Given the description of an element on the screen output the (x, y) to click on. 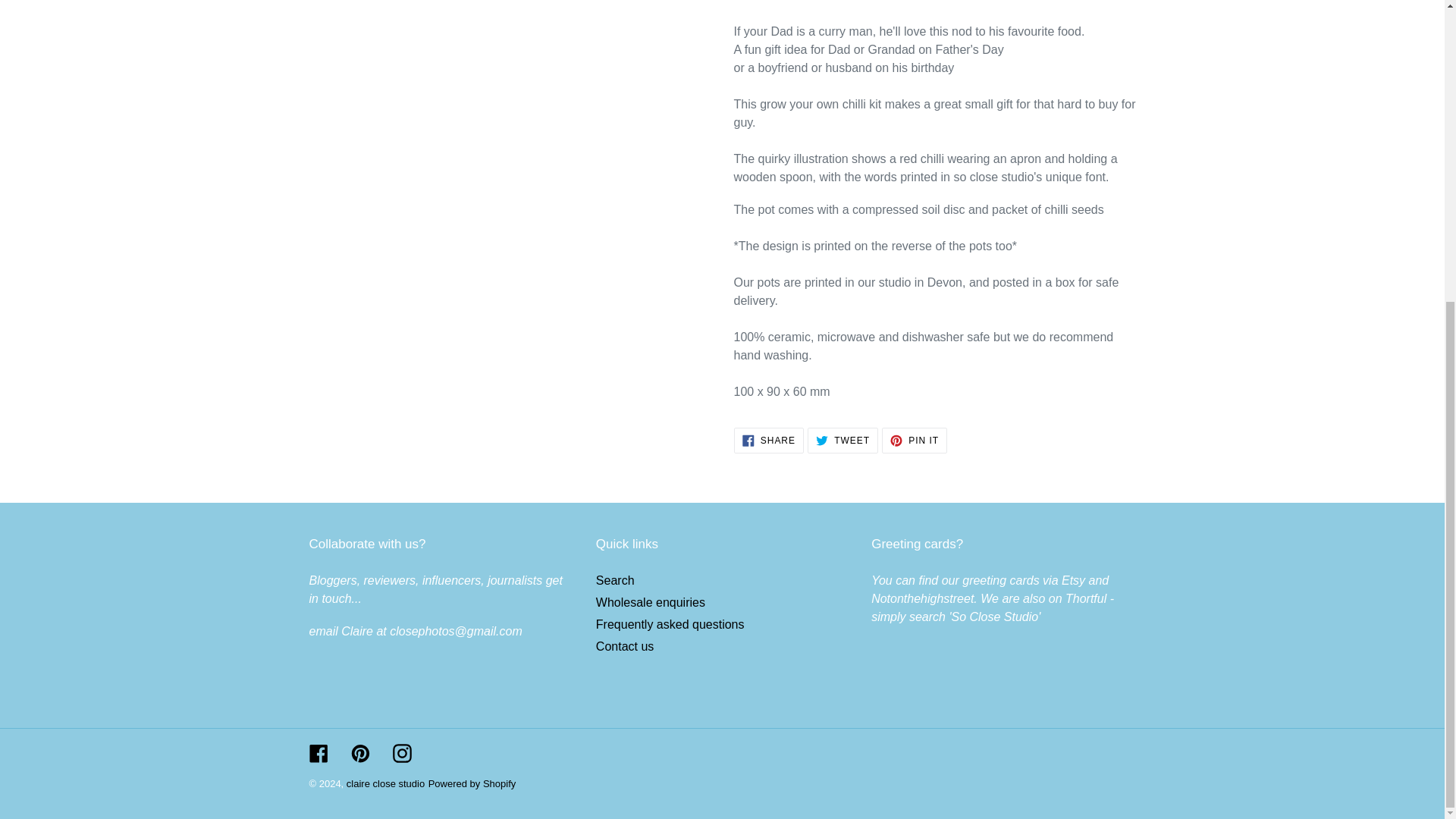
Contact us (914, 440)
Facebook (624, 645)
Powered by Shopify (318, 752)
Instagram (472, 783)
Pinterest (402, 752)
Wholesale enquiries (842, 440)
Search (359, 752)
